Given the description of an element on the screen output the (x, y) to click on. 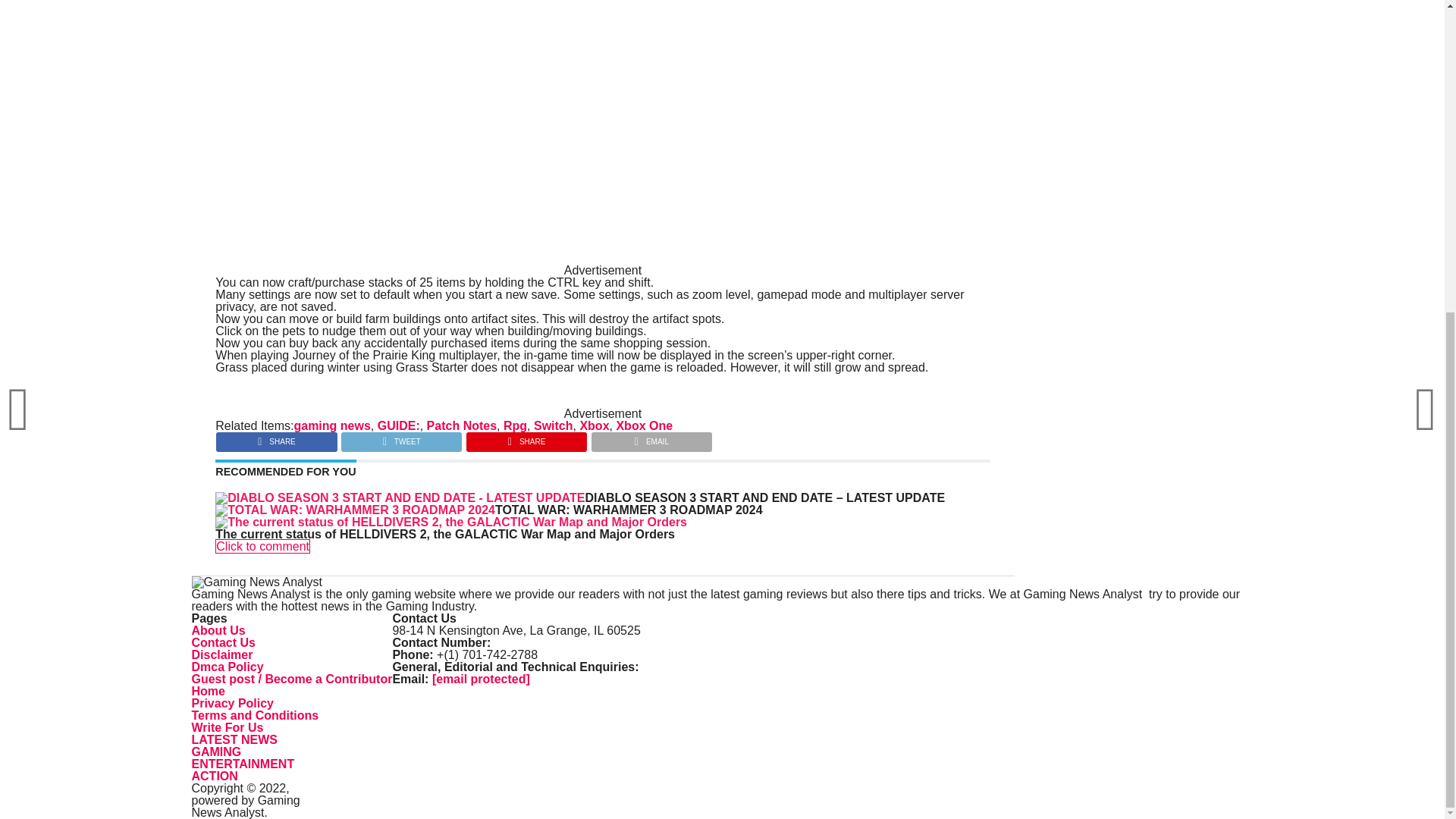
Pin This Post (525, 437)
SHARE (525, 437)
Rpg (515, 425)
gaming news (331, 425)
TOTAL WAR: WARHAMMER 3 ROADMAP 2024 (628, 509)
Switch (553, 425)
Xbox (593, 425)
TWEET (400, 437)
Share on Facebook (275, 437)
